Given the description of an element on the screen output the (x, y) to click on. 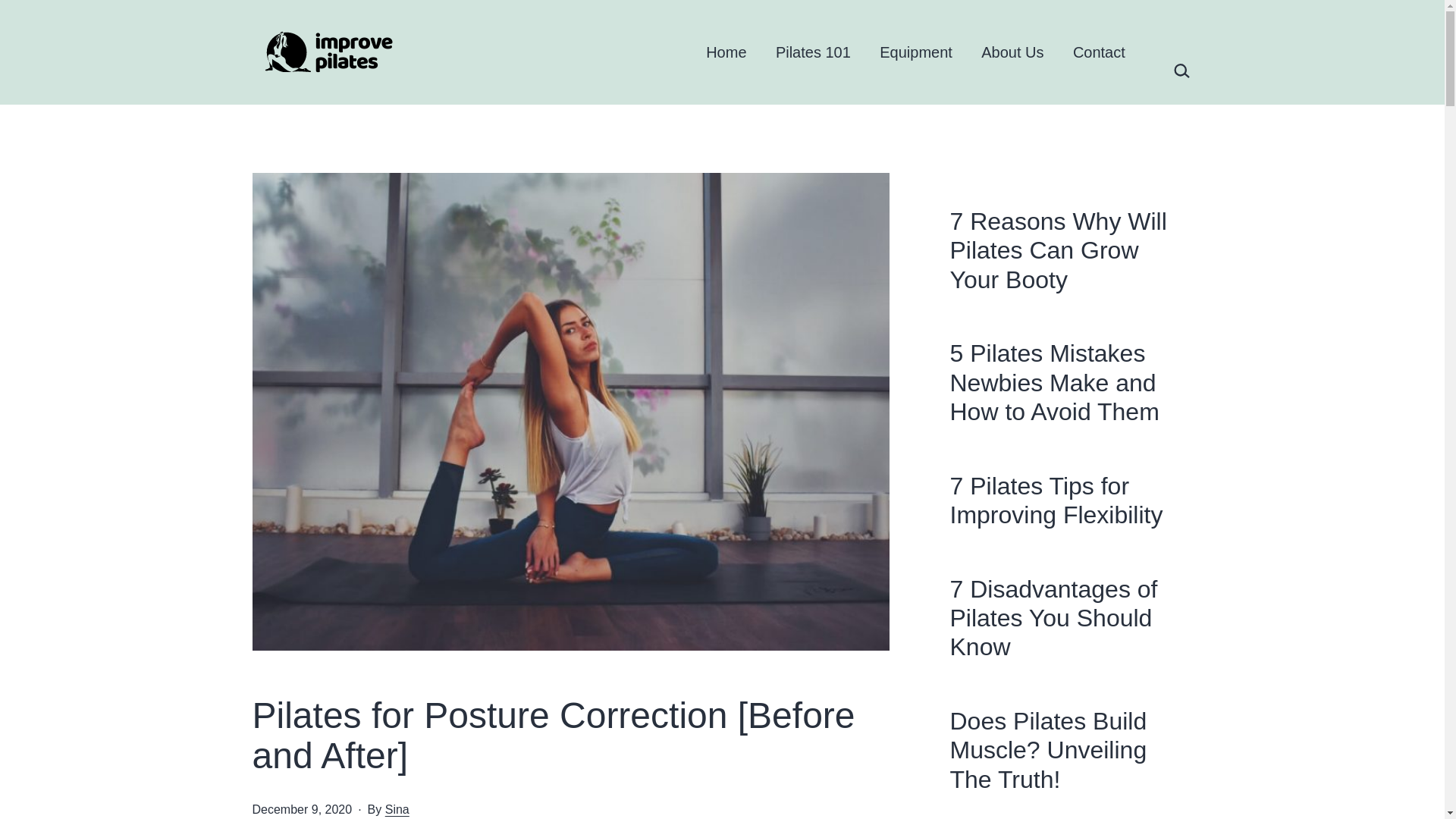
Sina (397, 809)
7 Reasons Why Will Pilates Can Grow Your Booty (1070, 250)
7 Pilates Tips for Improving Flexibility (1070, 500)
Does Pilates Build Muscle? Unveiling The Truth! (1070, 749)
Pilates 101 (812, 51)
Contact (1098, 51)
About Us (1012, 51)
Home (726, 51)
5 Pilates Mistakes Newbies Make and How to Avoid Them (1070, 382)
7 Disadvantages of Pilates You Should Know (1070, 617)
